Given the description of an element on the screen output the (x, y) to click on. 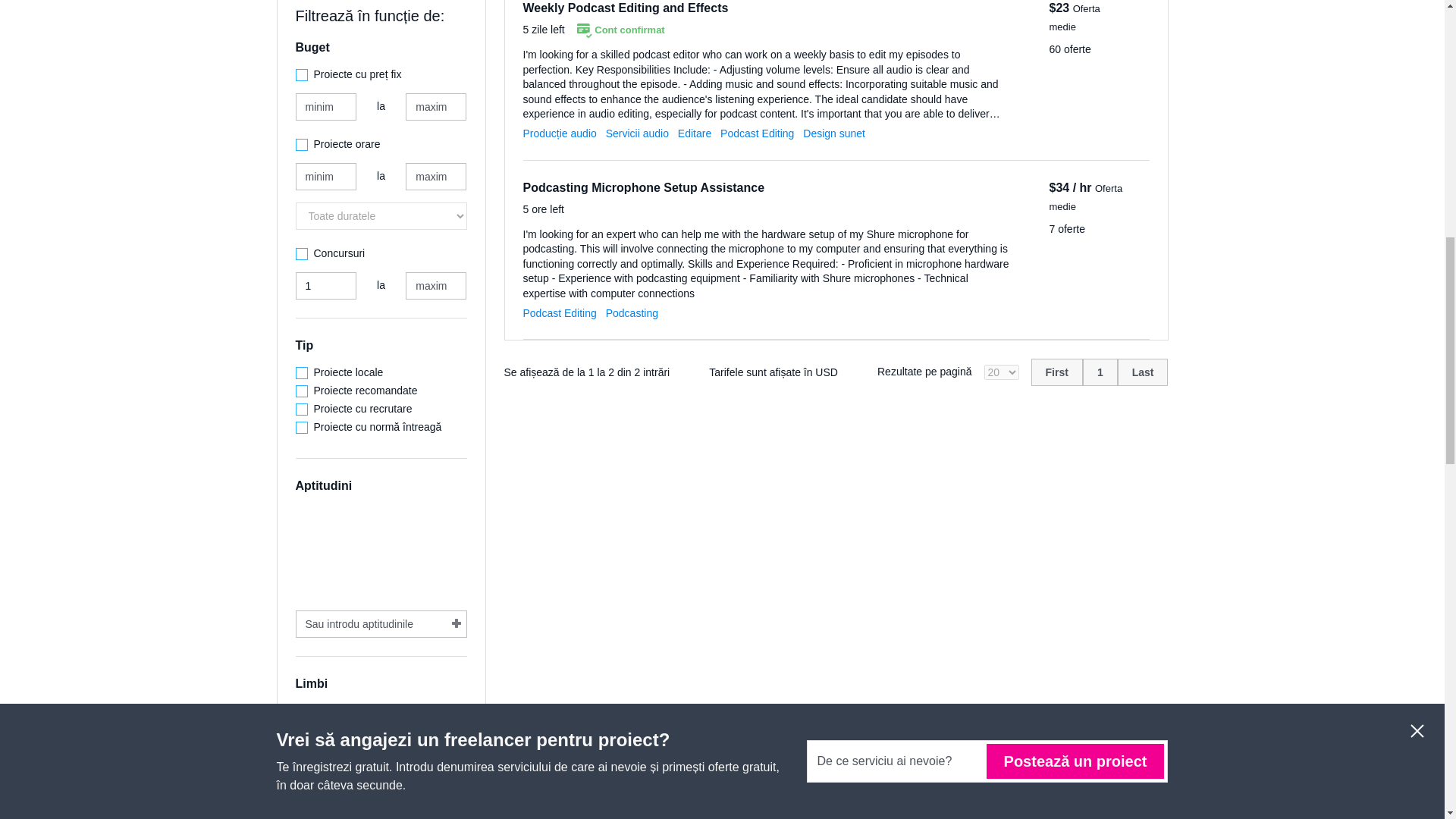
Servicii audio (636, 133)
Podcast Editing (559, 313)
Podcasting (631, 313)
1 (325, 285)
Podcast Editing (756, 133)
First (1056, 371)
Weekly Podcast Editing and Effects (625, 7)
Podcasting Microphone Setup Assistance (643, 187)
Last (1143, 371)
1 (1100, 371)
